Given the description of an element on the screen output the (x, y) to click on. 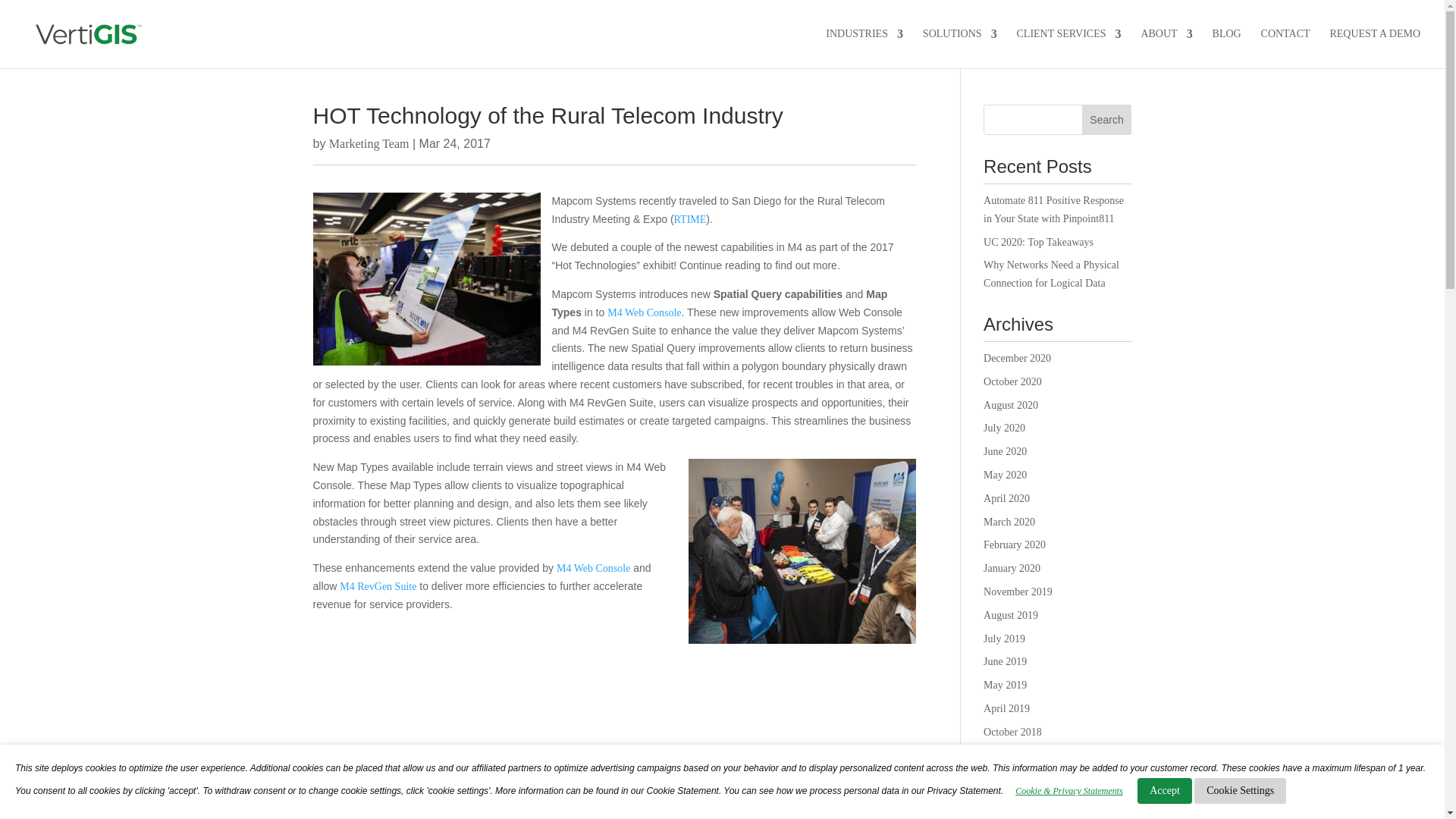
Posts by Marketing Team (369, 143)
INDUSTRIES (863, 46)
SOLUTIONS (960, 46)
Search (1106, 119)
CLIENT SERVICES (1068, 46)
ABOUT (1166, 46)
